Given the description of an element on the screen output the (x, y) to click on. 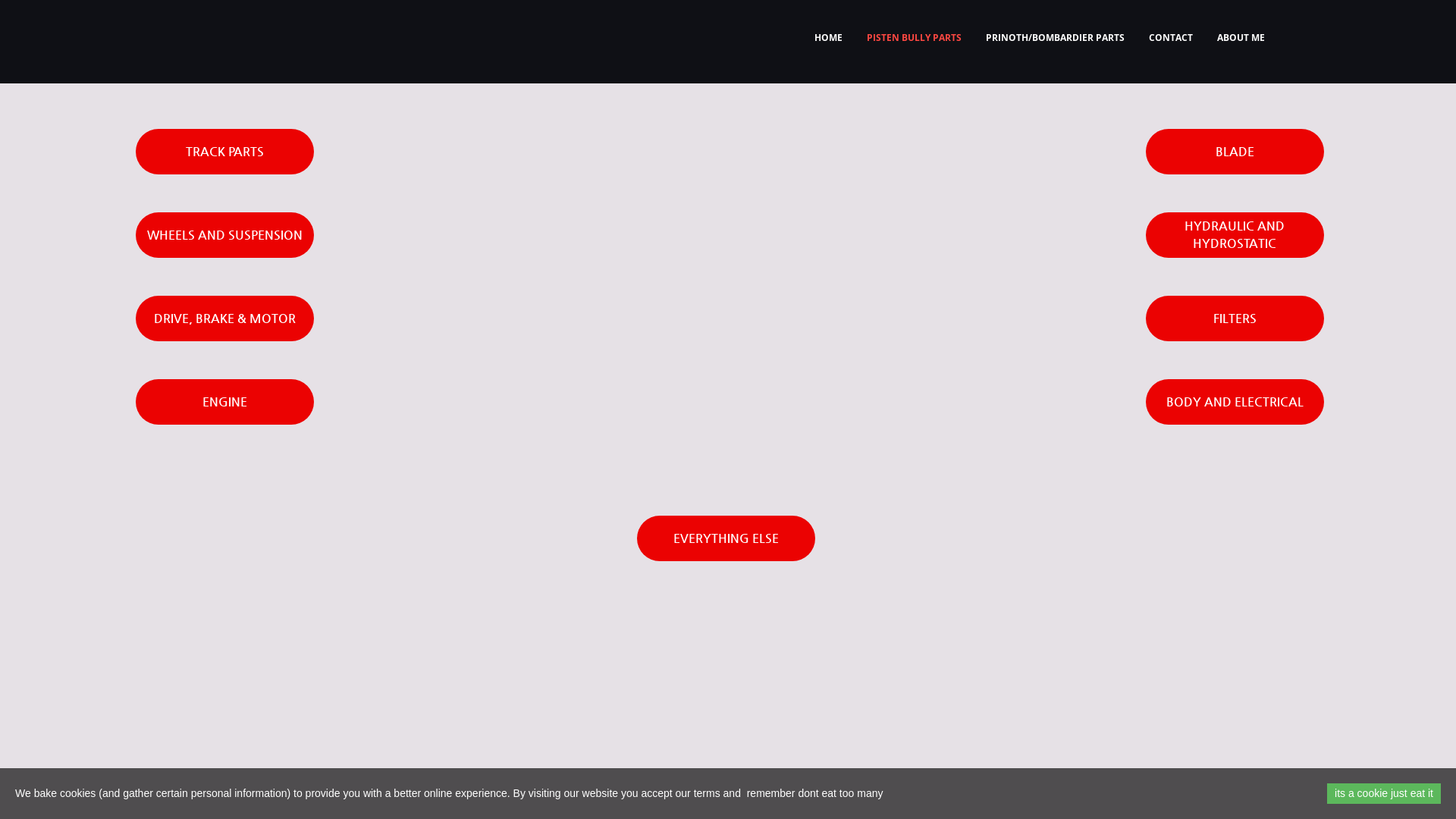
its a cookie just eat it Element type: text (1383, 793)
ABOUT ME Element type: text (1240, 37)
EVERYTHING ELSE Element type: text (726, 538)
PRINOTH/BOMBARDIER PARTS Element type: text (1054, 37)
BODY AND ELECTRICAL Element type: text (1234, 401)
CONTACT Element type: text (1170, 37)
BLADE Element type: text (1234, 151)
HYDRAULIC AND HYDROSTATIC Element type: text (1234, 234)
DRIVE, BRAKE & MOTOR Element type: text (224, 318)
WHEELS AND SUSPENSION Element type: text (224, 234)
TRACK PARTS Element type: text (224, 151)
PISTEN BULLY PARTS Element type: text (913, 37)
HOME Element type: text (828, 37)
ENGINE Element type: text (224, 401)
FILTERS Element type: text (1234, 318)
